Given the description of an element on the screen output the (x, y) to click on. 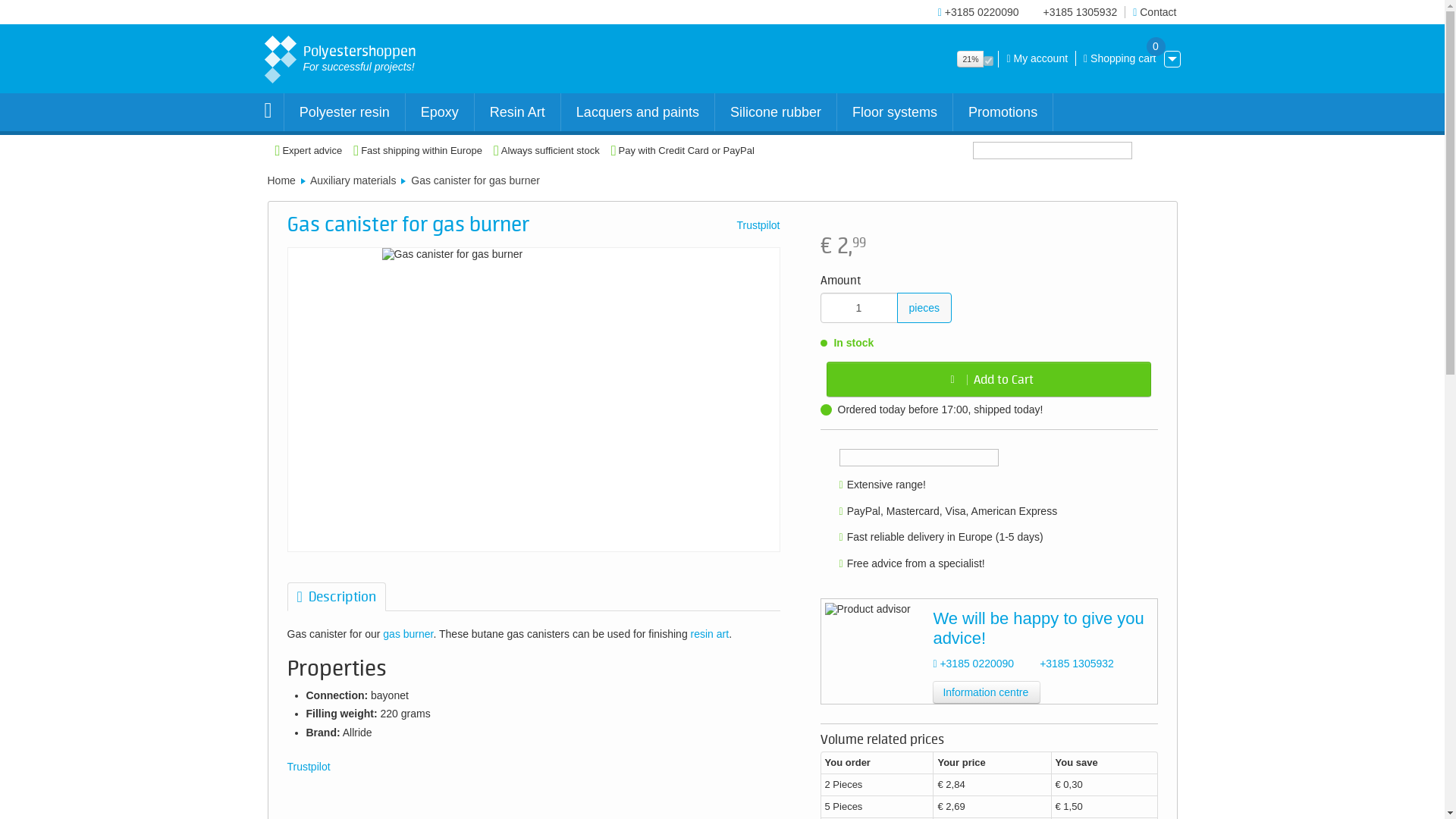
Polyester resin (343, 112)
Epoxy (440, 112)
Contact (1154, 11)
1 (859, 307)
Resin Art (348, 56)
Lacquers and paints (517, 112)
My account (637, 112)
Silicone rubber (1119, 58)
